Given the description of an element on the screen output the (x, y) to click on. 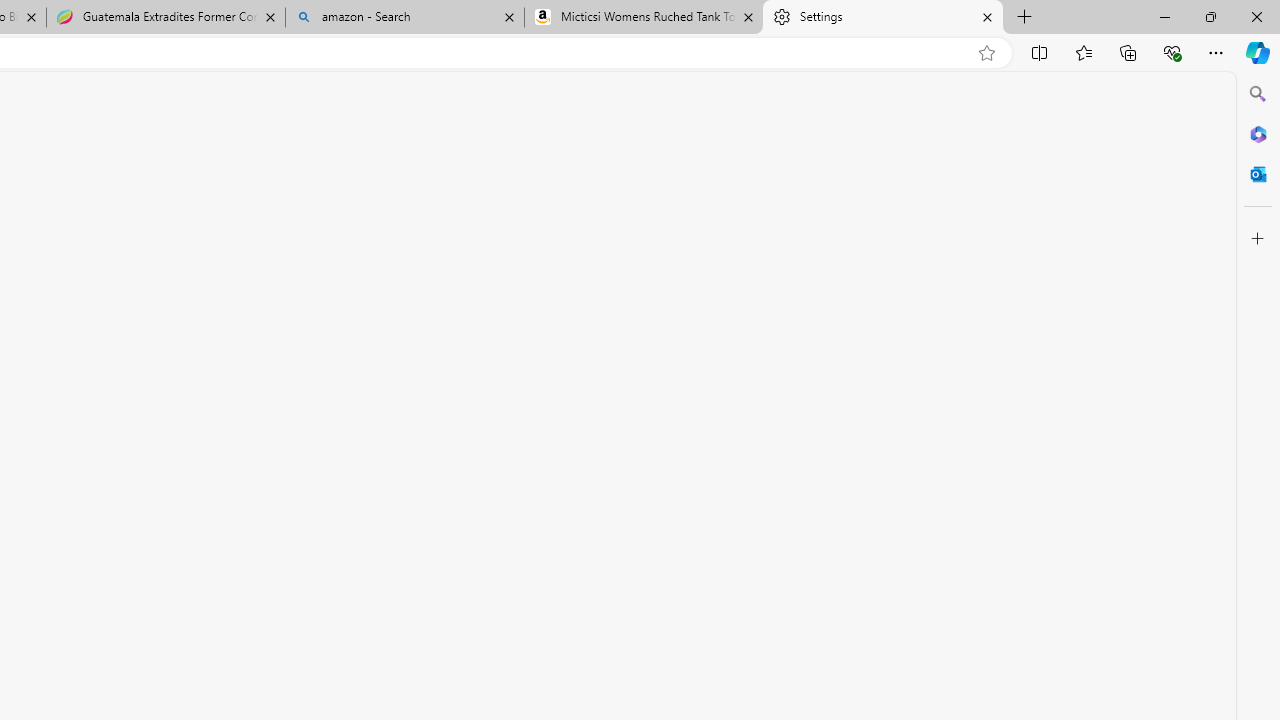
amazon - Search (404, 17)
